Given the description of an element on the screen output the (x, y) to click on. 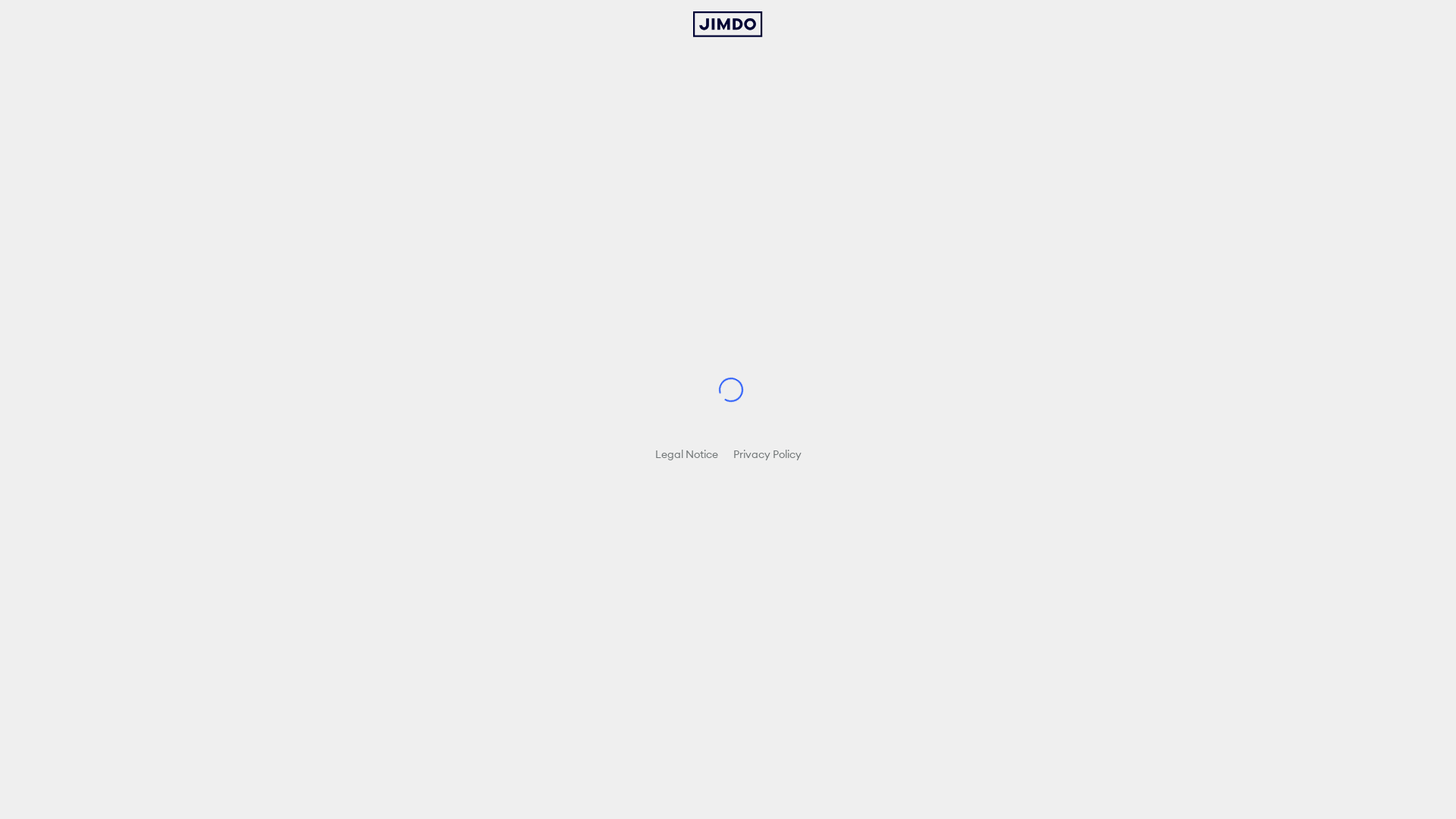
Privacy Policy Element type: text (766, 454)
Legal Notice Element type: text (686, 454)
